Given the description of an element on the screen output the (x, y) to click on. 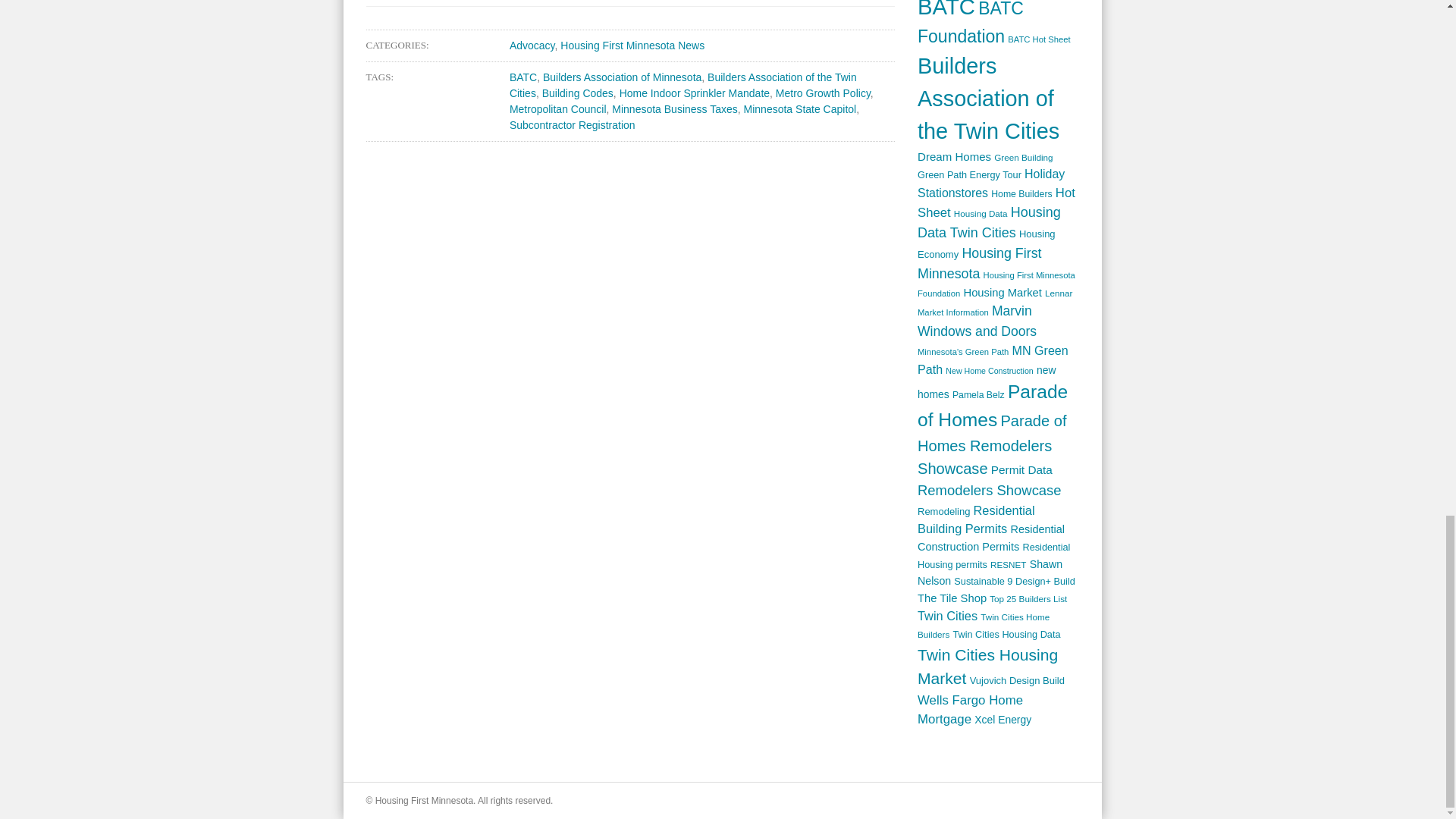
Builders Association of the Twin Cities (683, 85)
Builders Association of Minnesota (622, 77)
Housing First Minnesota News (632, 45)
Advocacy (531, 45)
BATC (523, 77)
